Given the description of an element on the screen output the (x, y) to click on. 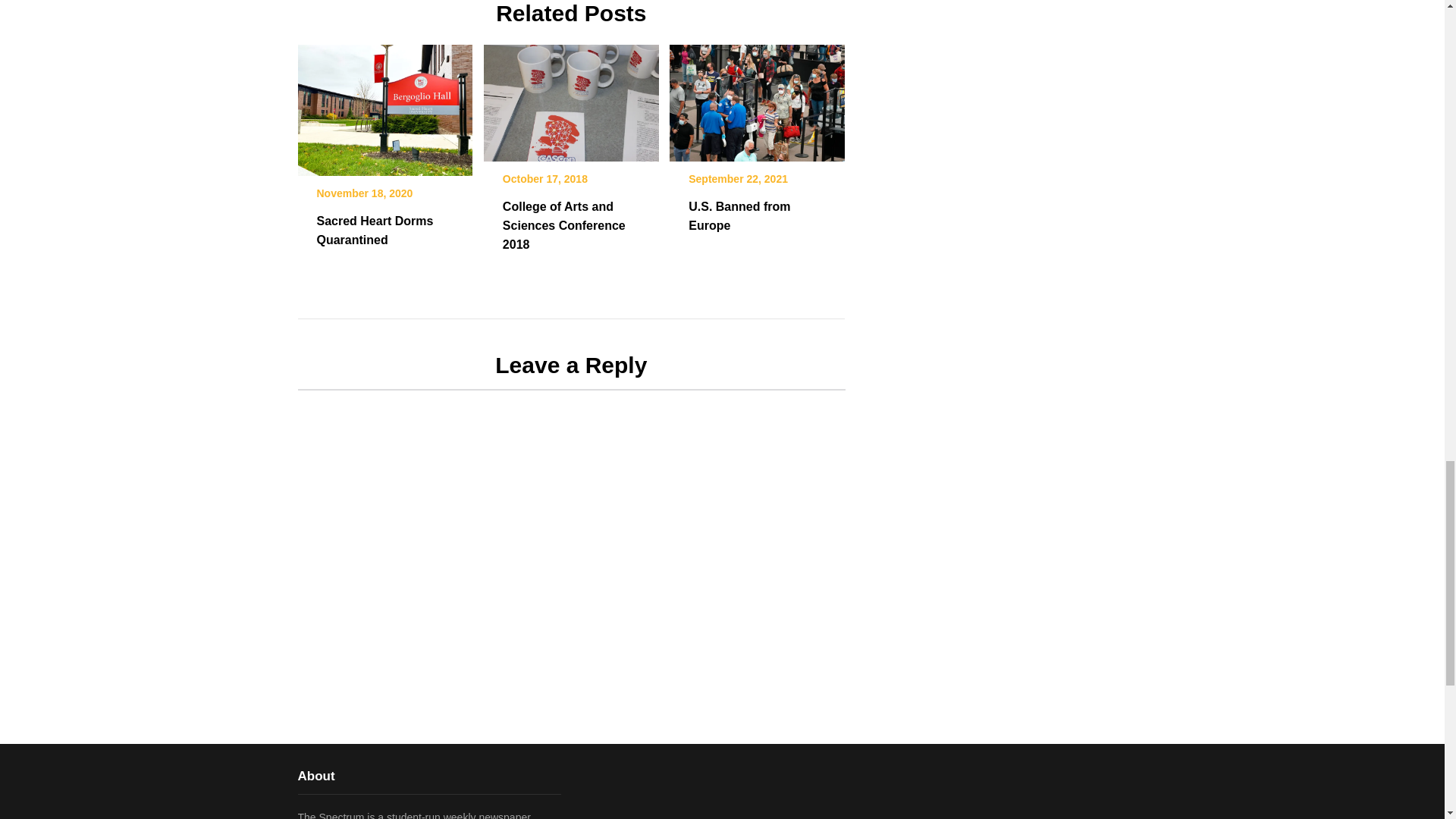
Sacred Heart Dorms Quarantined (384, 104)
U.S. Banned from Europe (756, 97)
College of Arts and Sciences Conference 2018 (571, 97)
College of Arts and Sciences Conference 2018 (564, 224)
U.S. Banned from Europe (739, 215)
Sacred Heart Dorms Quarantined (375, 230)
